Given the description of an element on the screen output the (x, y) to click on. 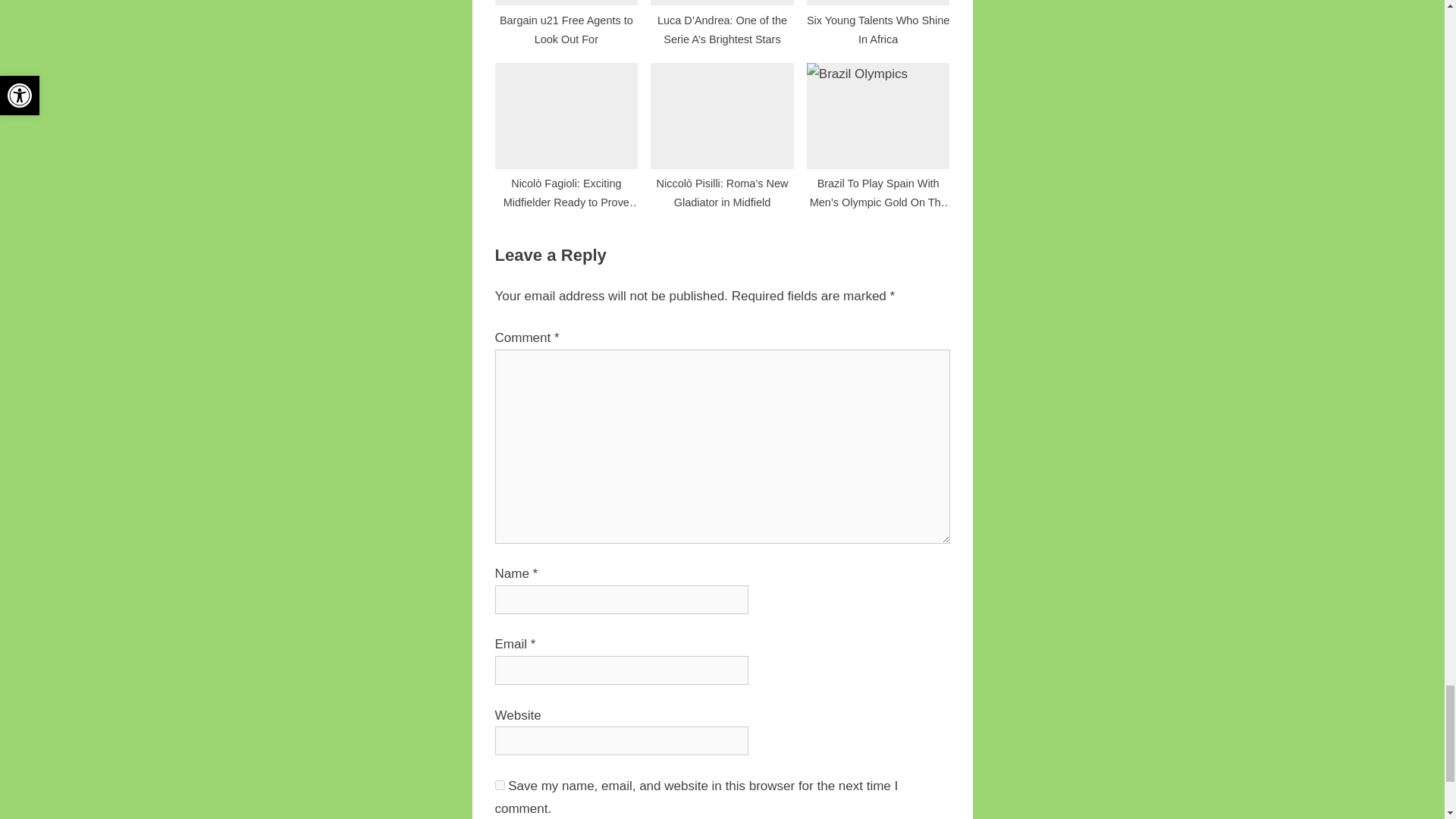
yes (499, 785)
